Given the description of an element on the screen output the (x, y) to click on. 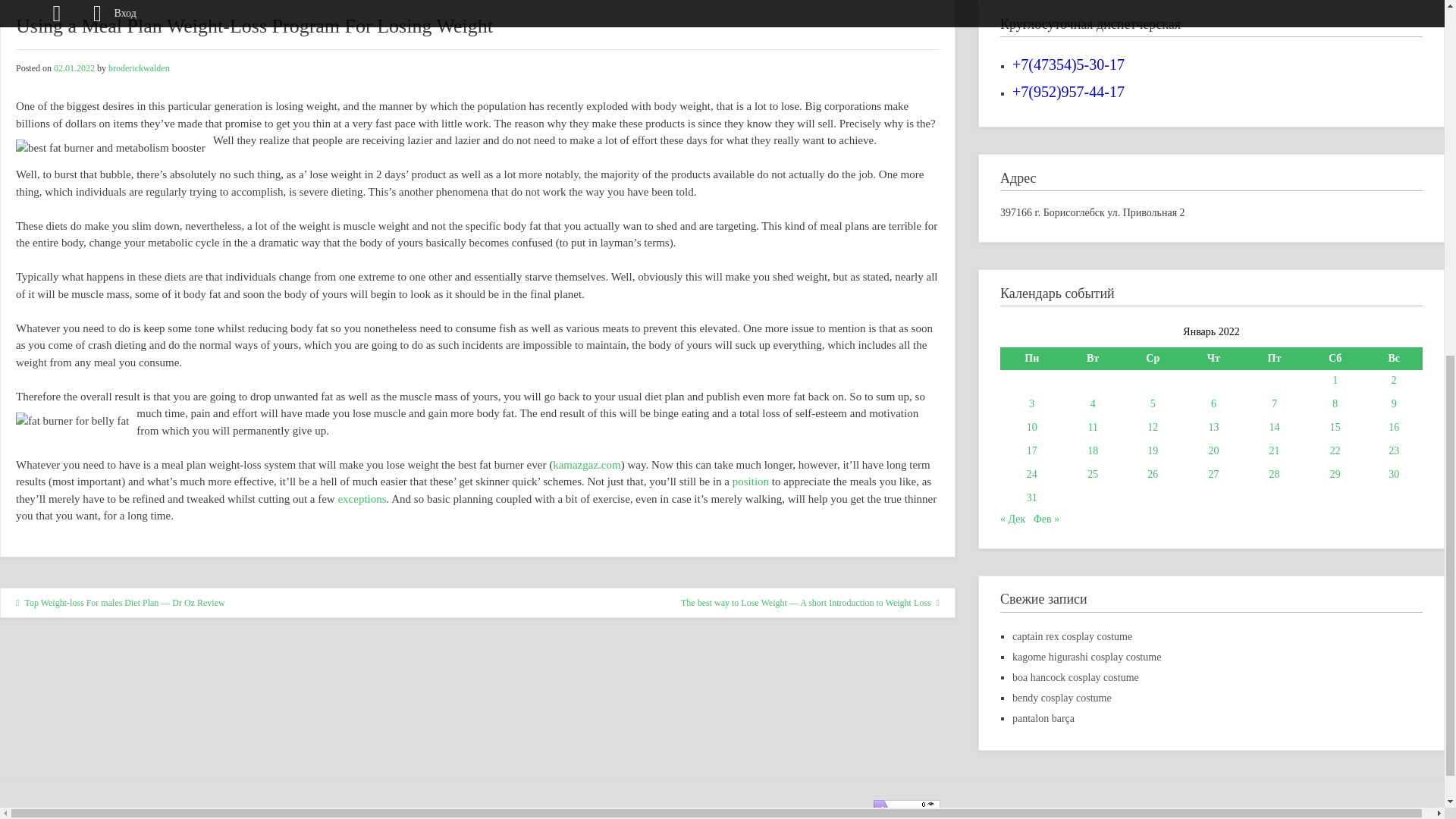
kamazgaz.com (587, 464)
position (750, 481)
exceptions (361, 499)
02.01.2022 (73, 68)
broderickwalden (138, 68)
